Given the description of an element on the screen output the (x, y) to click on. 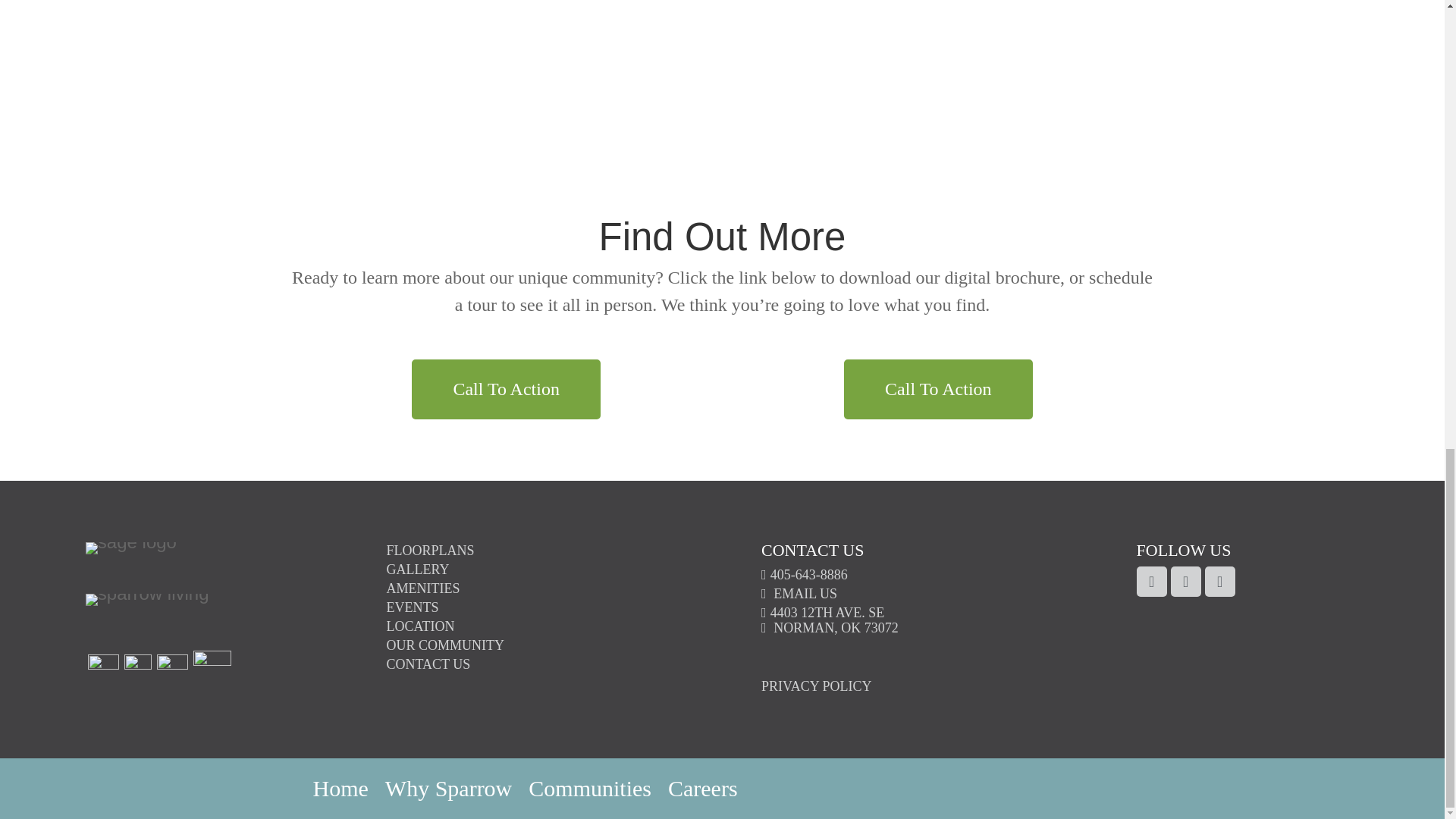
GALLERY (829, 620)
Call To Action (418, 569)
Communities (505, 389)
Call To Action (589, 791)
PRIVACY POLICY (938, 389)
FLOORPLANS (816, 685)
EMAIL US (430, 549)
Careers (799, 593)
Home (703, 791)
EVENTS (340, 791)
Why Sparrow (413, 607)
LOCATION (448, 791)
405-643-8886 (420, 626)
CONTACT US (804, 574)
